Given the description of an element on the screen output the (x, y) to click on. 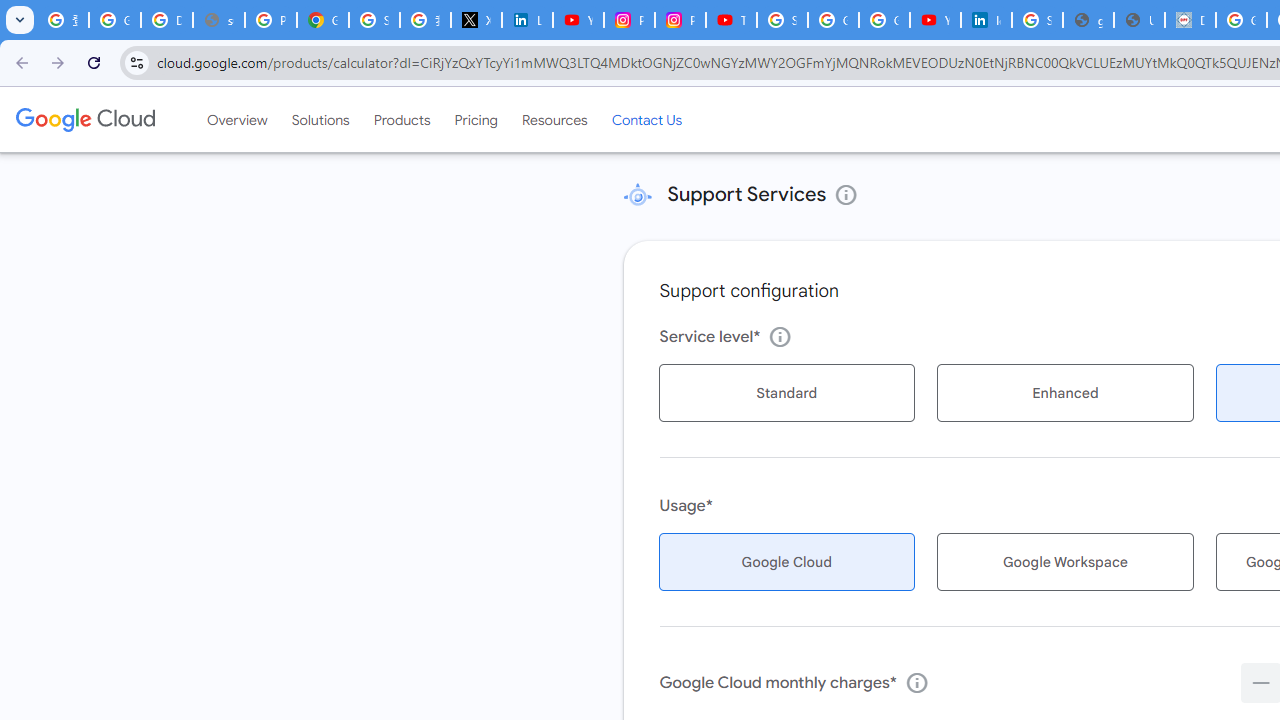
User Details (1138, 20)
Solutions (320, 119)
Products (401, 119)
